Given the description of an element on the screen output the (x, y) to click on. 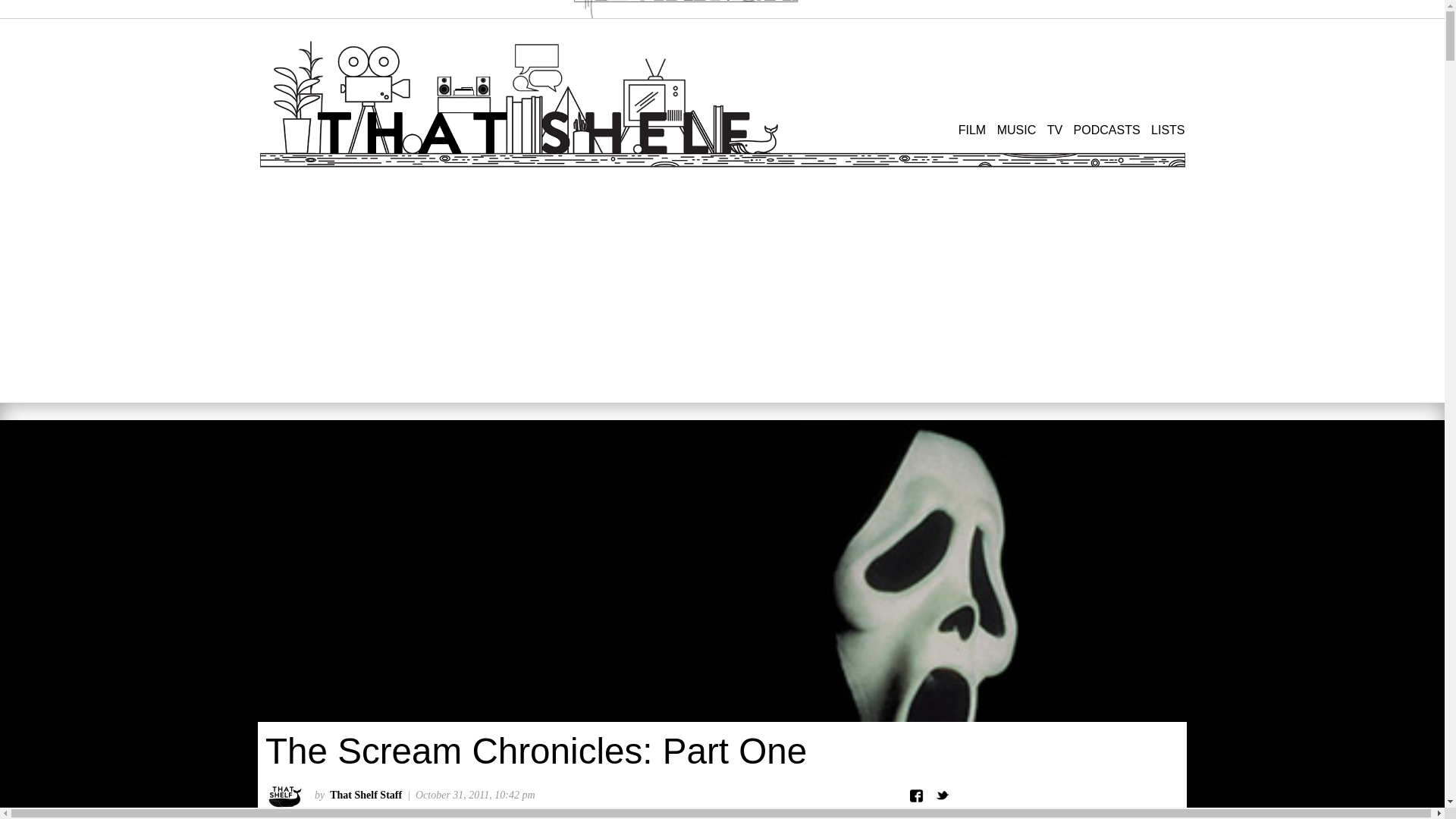
PODCASTS (1107, 129)
TV (1054, 129)
TV (1054, 129)
FILM (971, 129)
That Shelf Staff (365, 794)
Film (971, 129)
Podcasts (1107, 129)
Home (683, 23)
MUSIC (1016, 129)
Home (536, 104)
LISTS (1168, 129)
